Given the description of an element on the screen output the (x, y) to click on. 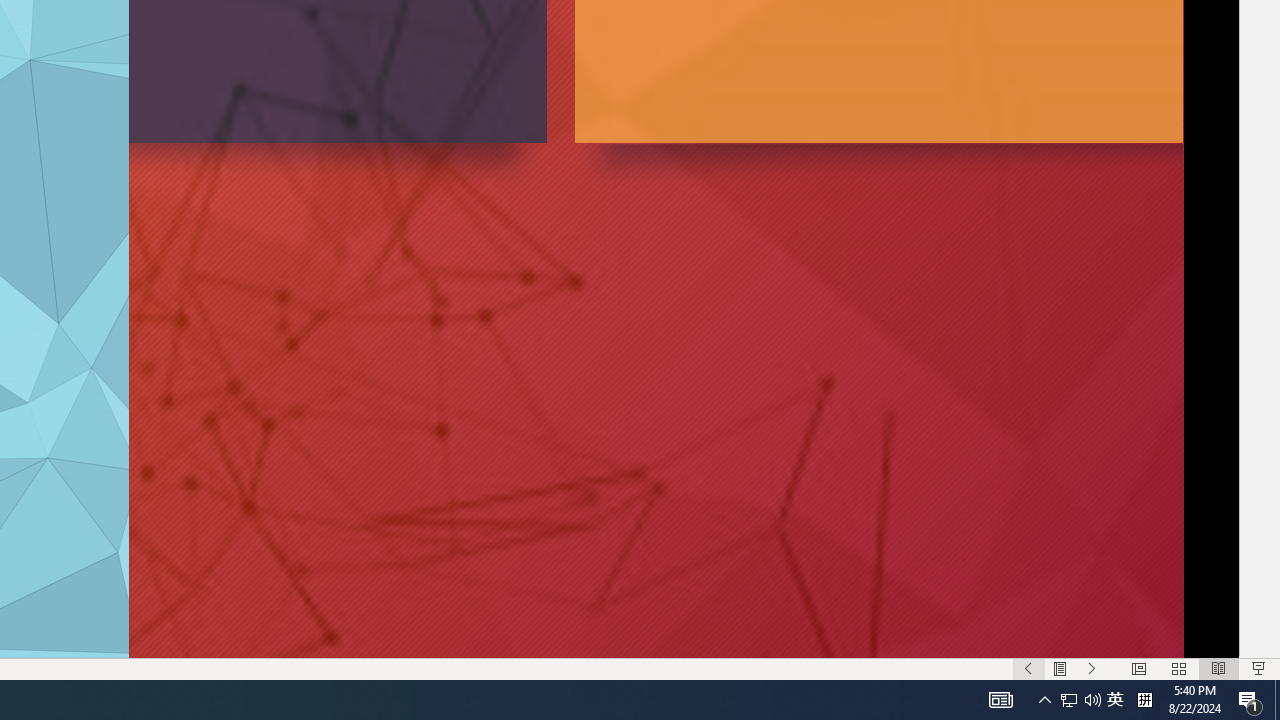
Menu On (1060, 668)
Slide Show Next On (1092, 668)
Slide Show Previous On (1028, 668)
